Given the description of an element on the screen output the (x, y) to click on. 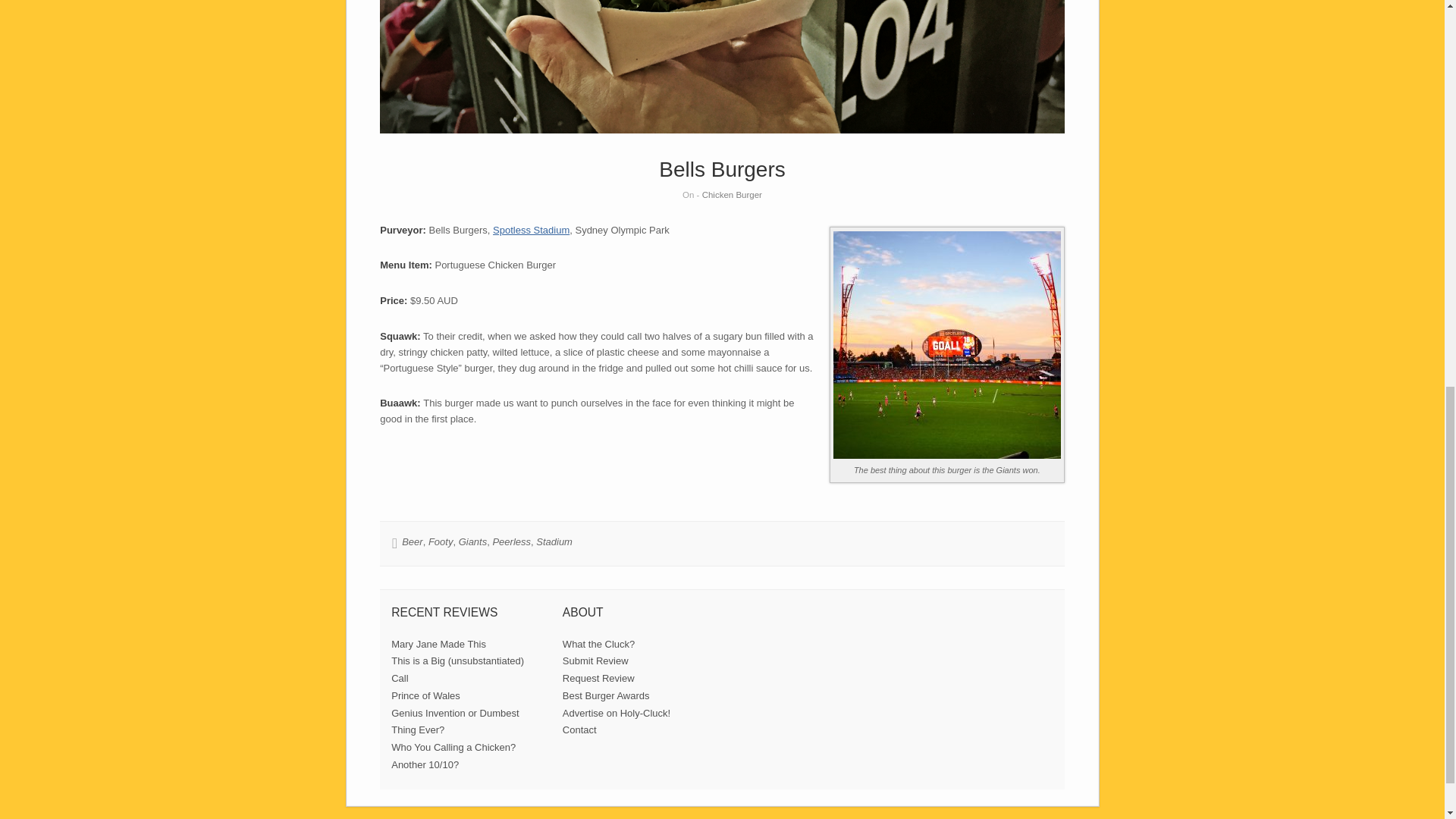
Chicken Burger (731, 194)
Advertise on Holy-Cluck! (615, 713)
Peerless (511, 541)
Stadium (553, 541)
What the Cluck? (598, 644)
Mary Jane Made This (438, 644)
Giants (472, 541)
Who You Calling a Chicken? (453, 747)
Beer (411, 541)
Prince of Wales (425, 695)
Bells Burgers (722, 169)
Best Burger Awards (605, 695)
Genius Invention or Dumbest Thing Ever? (454, 721)
Contact (579, 729)
Request Review (598, 677)
